Given the description of an element on the screen output the (x, y) to click on. 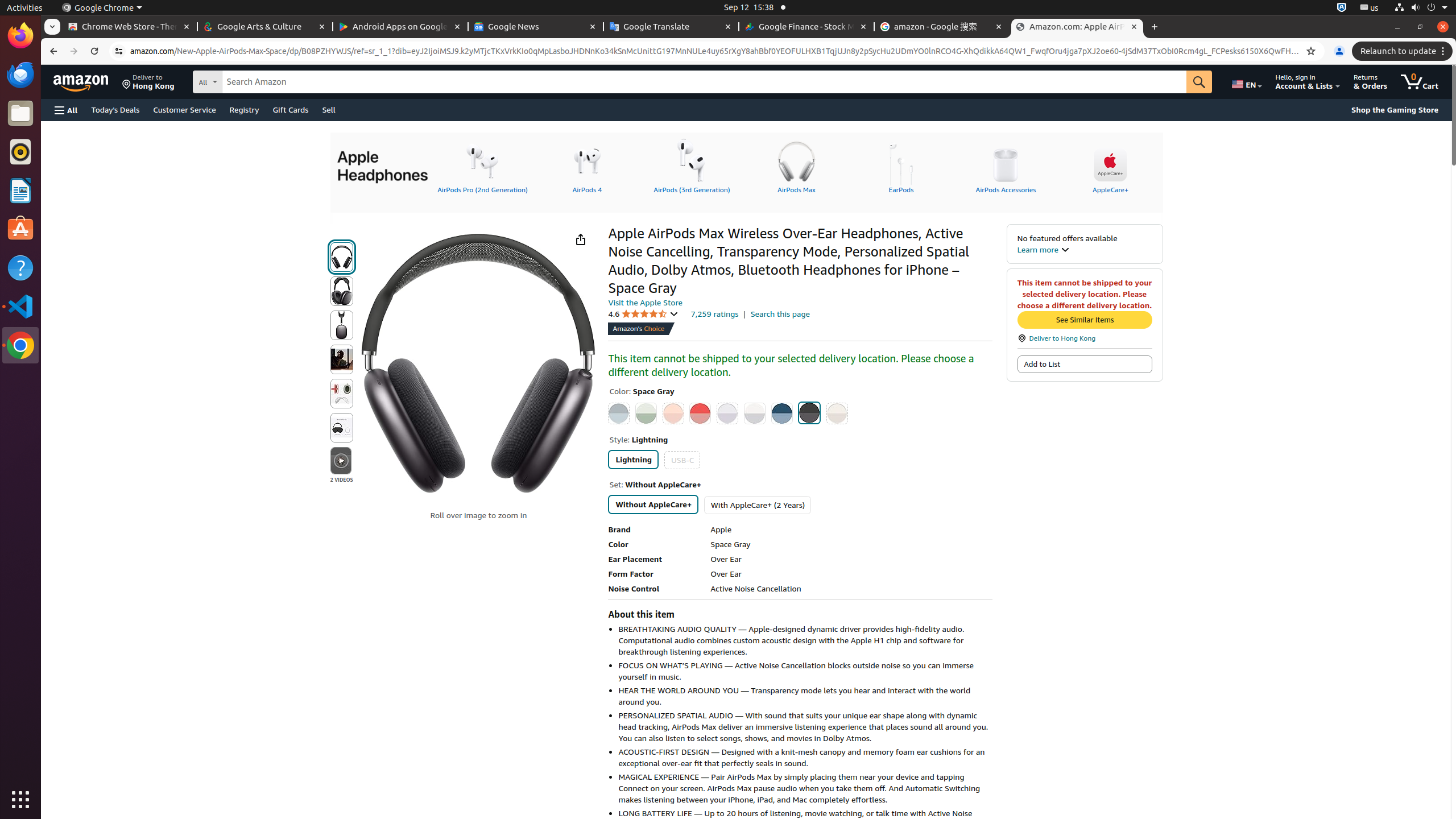
Skip to main content Element type: link (87, 80)
USB-C Element type: push-button (682, 459)
Purple Element type: push-button (727, 412)
